Given the description of an element on the screen output the (x, y) to click on. 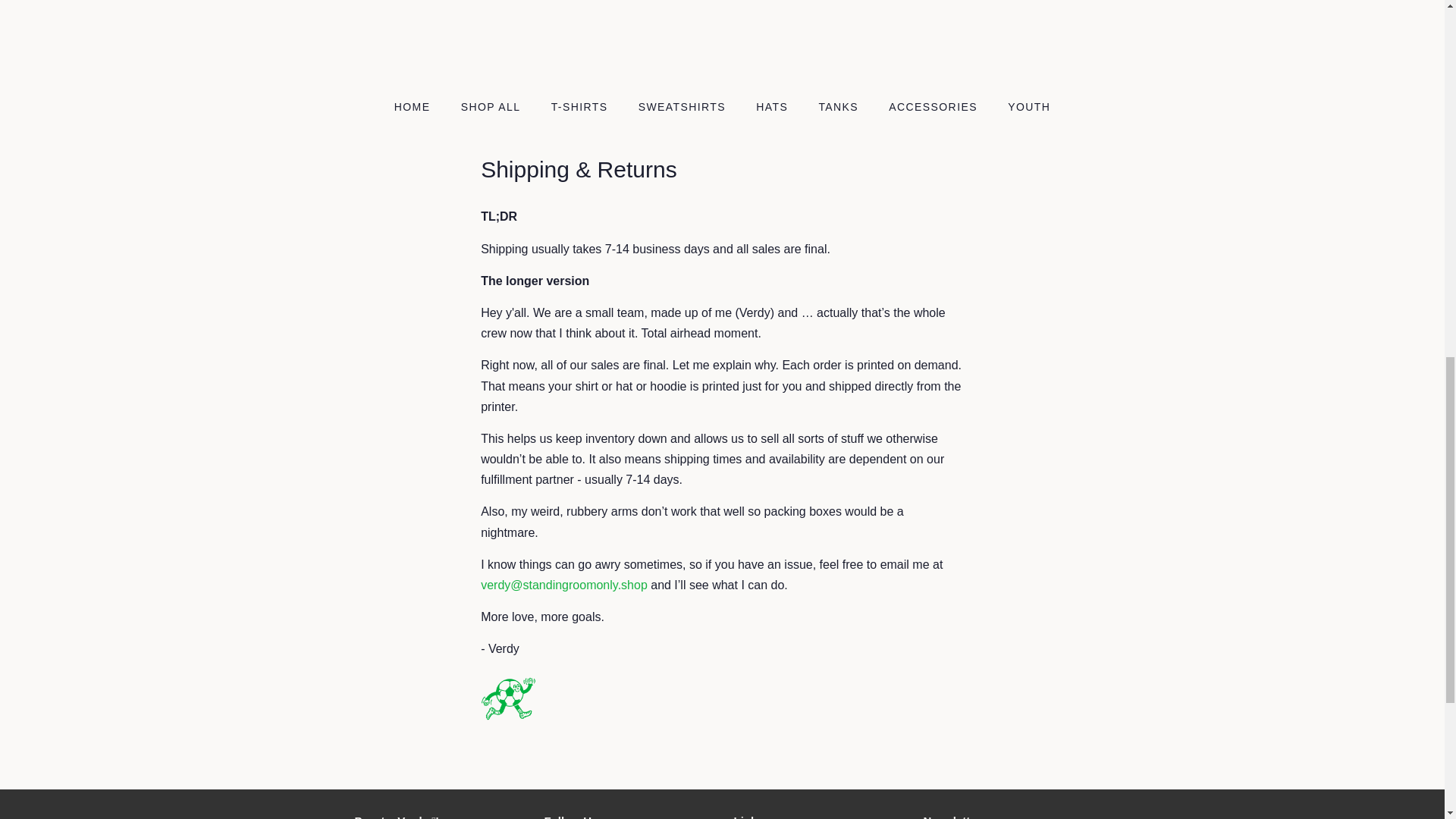
TANKS (839, 107)
T-SHIRTS (581, 107)
HOME (419, 107)
SWEATSHIRTS (684, 107)
SHOP ALL (492, 107)
HATS (773, 107)
YOUTH (1022, 107)
ACCESSORIES (934, 107)
